Given the description of an element on the screen output the (x, y) to click on. 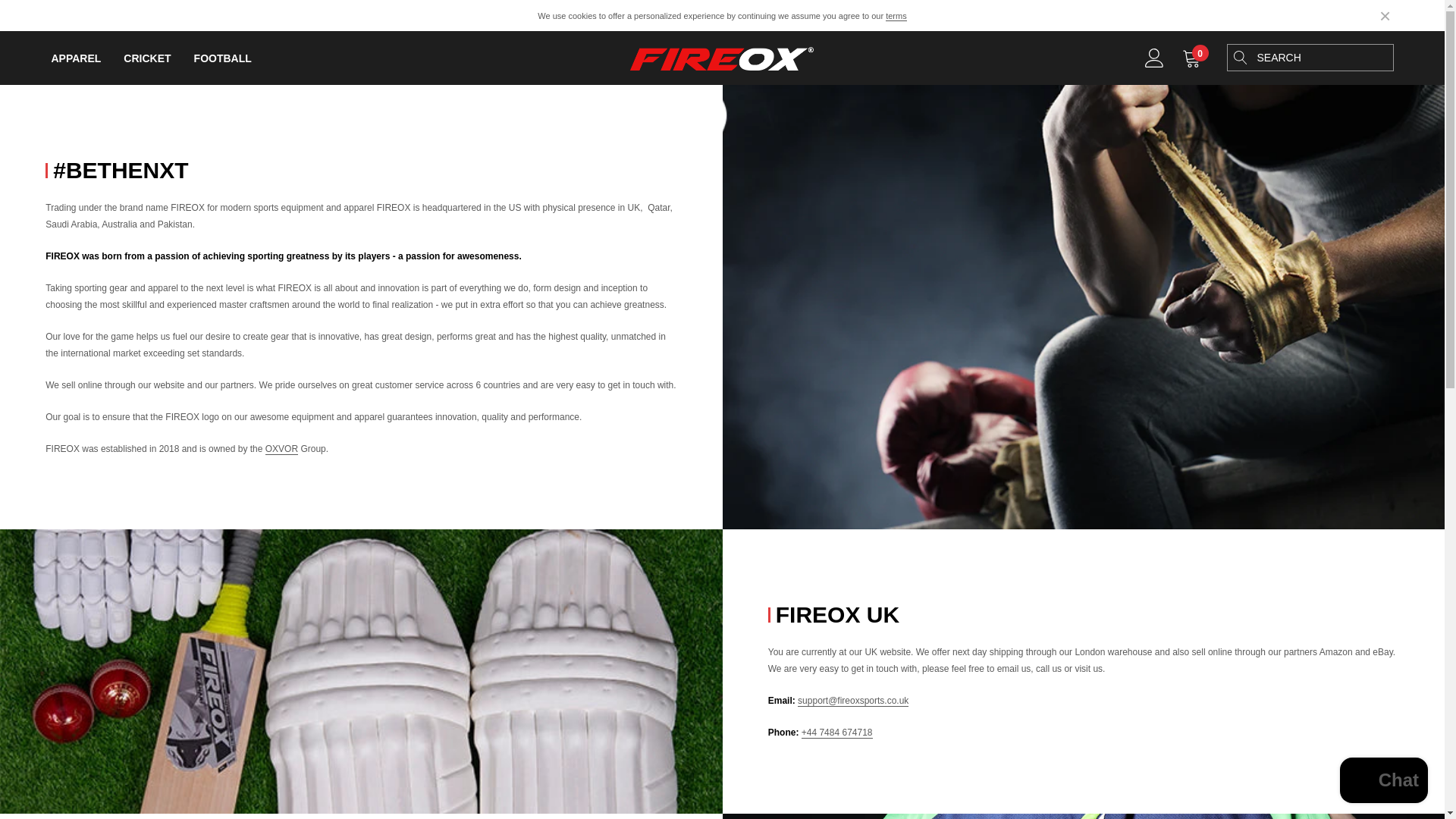
Shopify online store chat (1383, 781)
terms (896, 16)
FOOTBALL (222, 58)
search (1239, 57)
APPAREL (75, 58)
CRICKET (146, 58)
Terms (896, 16)
